Given the description of an element on the screen output the (x, y) to click on. 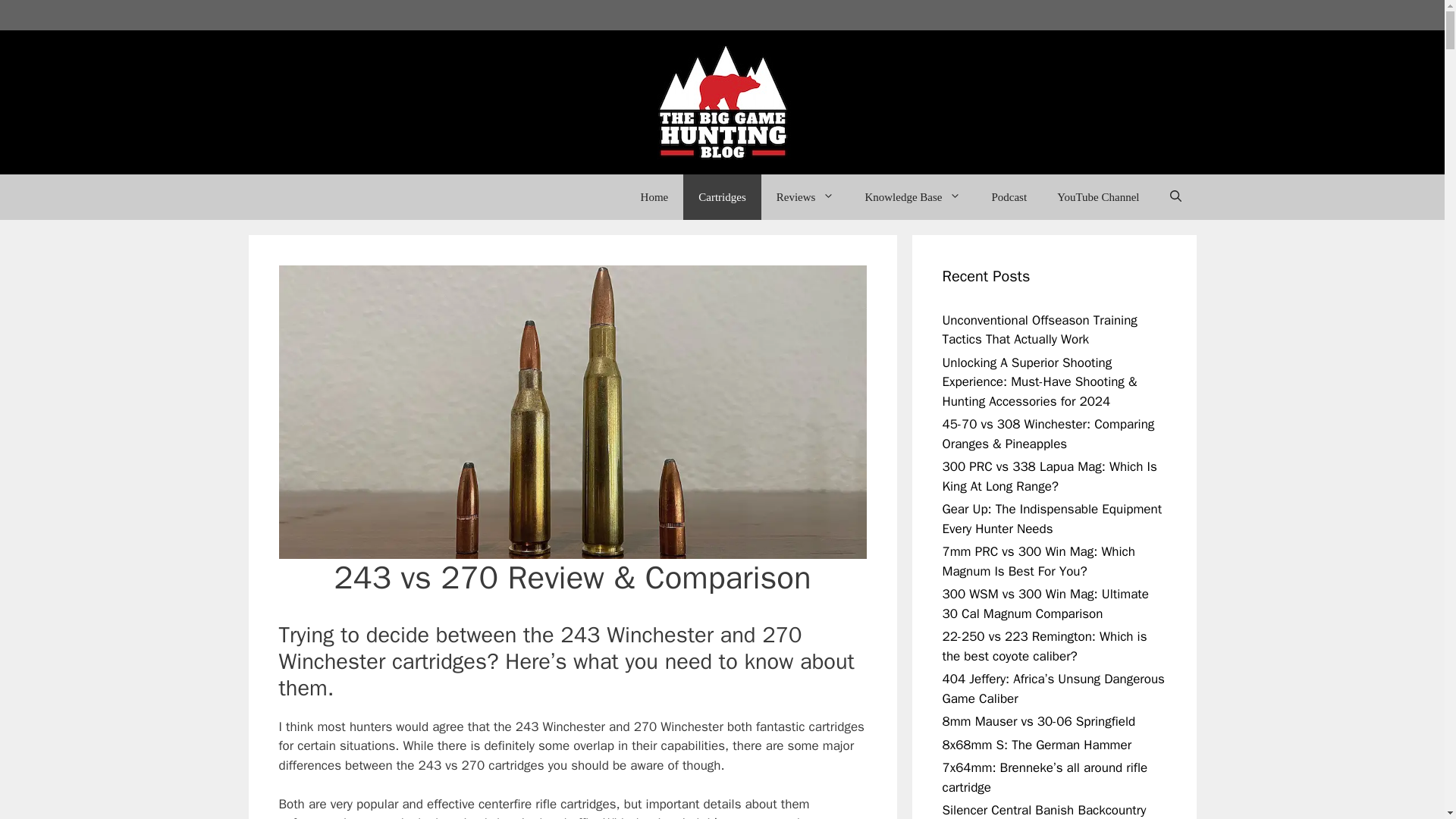
Podcast (1008, 197)
Home (655, 197)
Knowledge Base (911, 197)
Cartridges (721, 197)
Reviews (805, 197)
YouTube Channel (1098, 197)
